Given the description of an element on the screen output the (x, y) to click on. 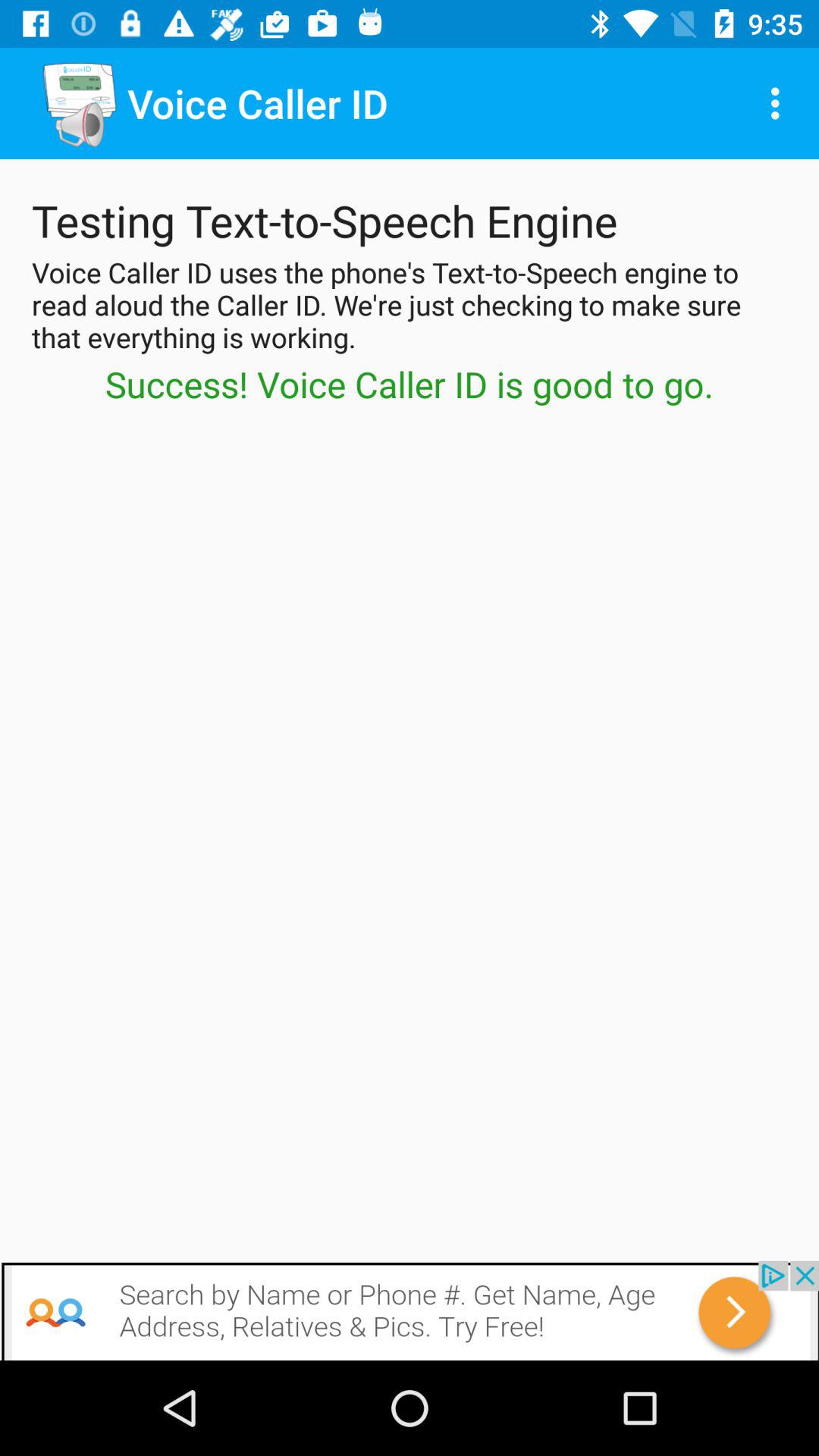
go to advertisement (409, 1310)
